Given the description of an element on the screen output the (x, y) to click on. 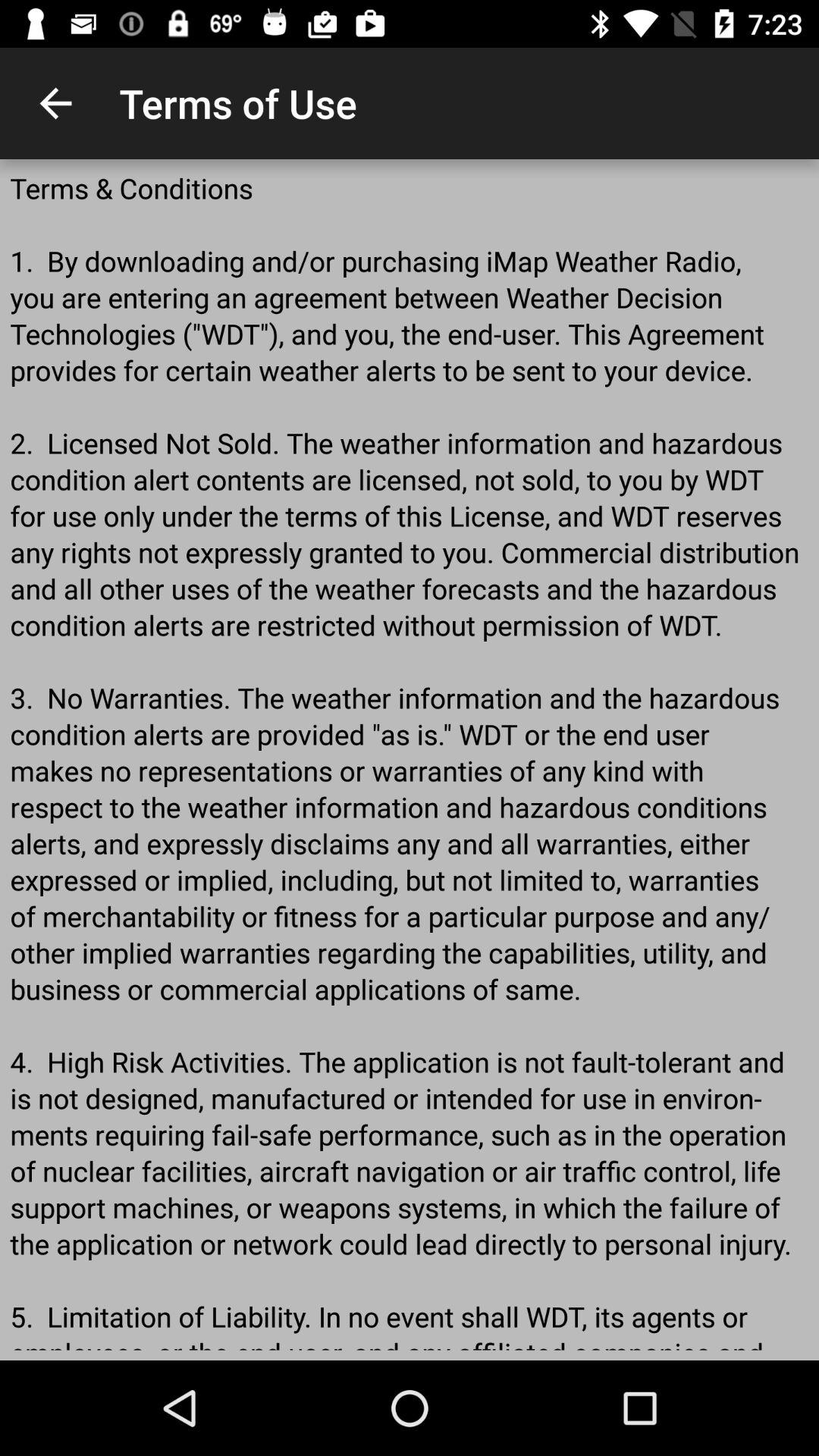
swipe to the terms conditions 1 (409, 759)
